Given the description of an element on the screen output the (x, y) to click on. 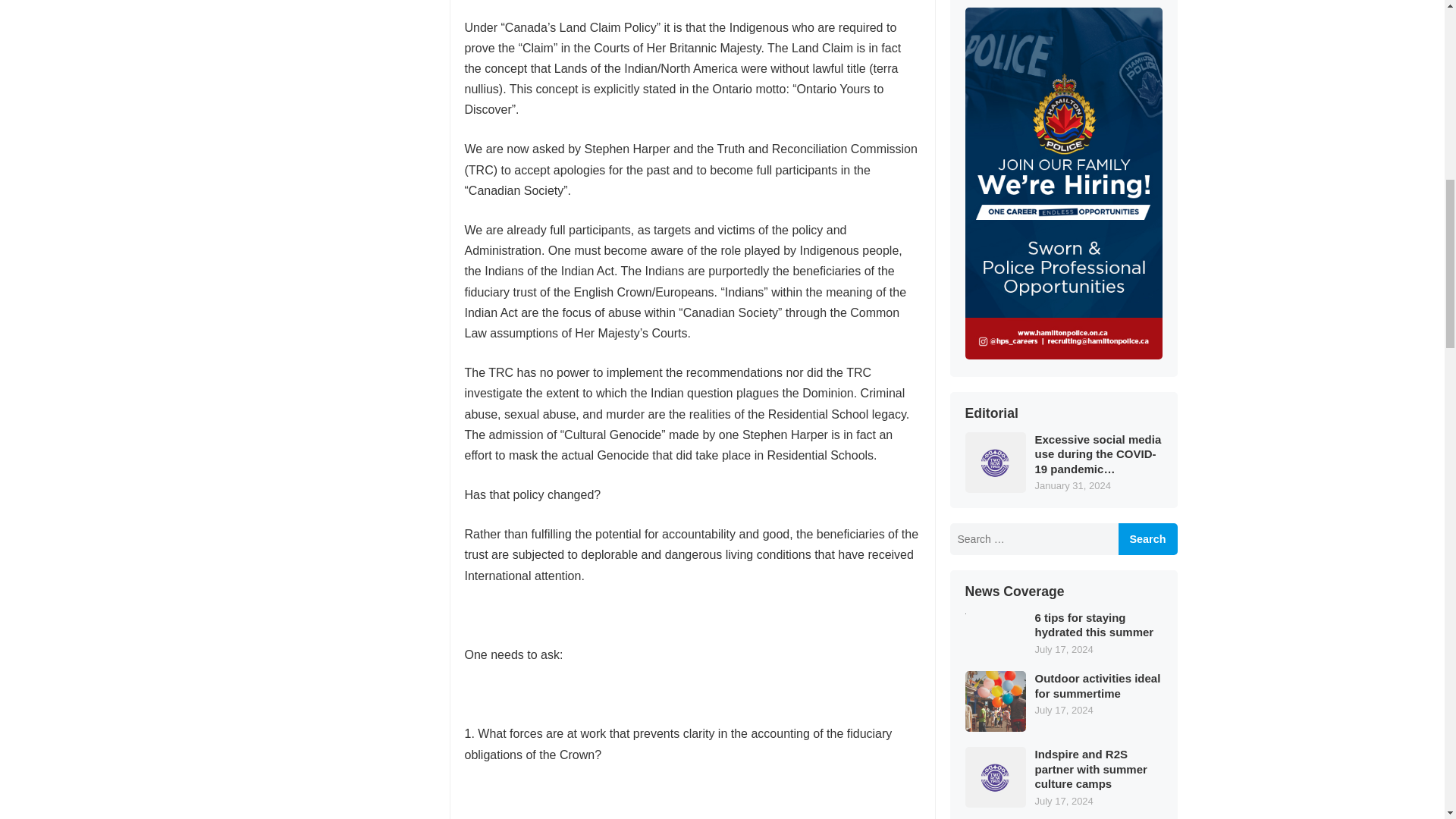
Search (1147, 539)
Search (1147, 539)
